Given the description of an element on the screen output the (x, y) to click on. 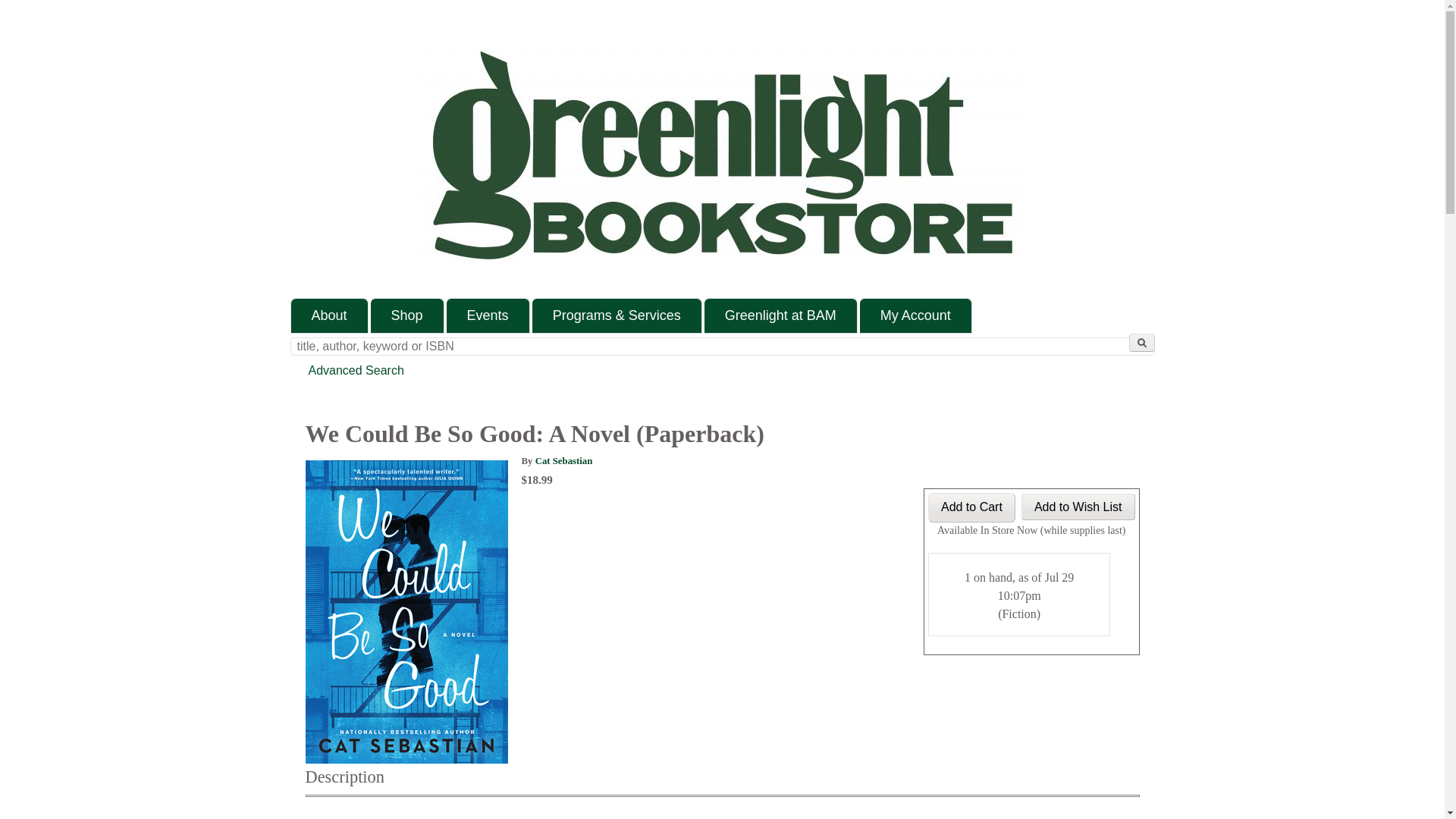
About (329, 315)
Search (1141, 342)
Shop (407, 315)
Add to Cart (971, 507)
